Given the description of an element on the screen output the (x, y) to click on. 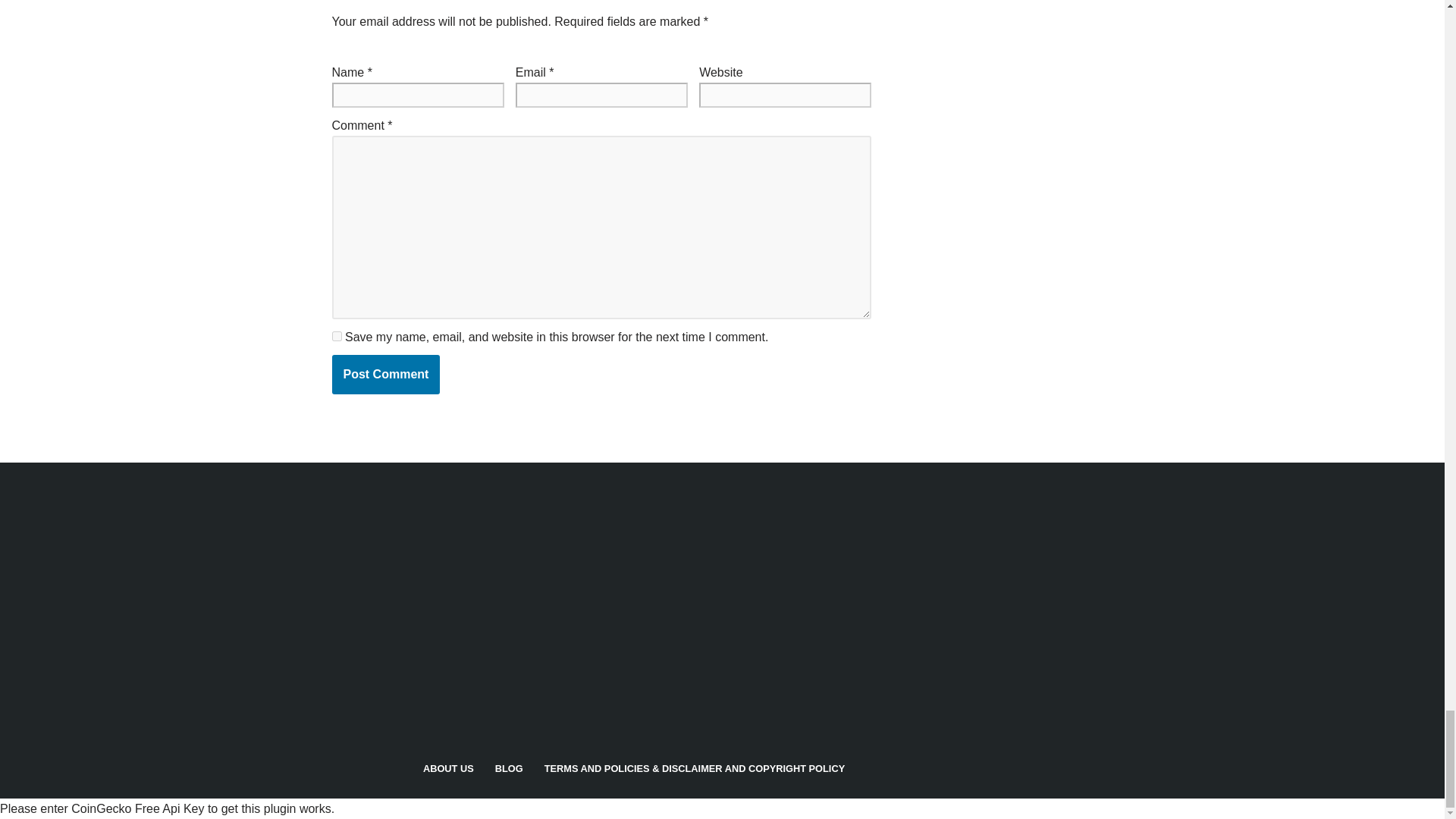
Post Comment (386, 373)
yes (336, 336)
Post Comment (386, 373)
